Given the description of an element on the screen output the (x, y) to click on. 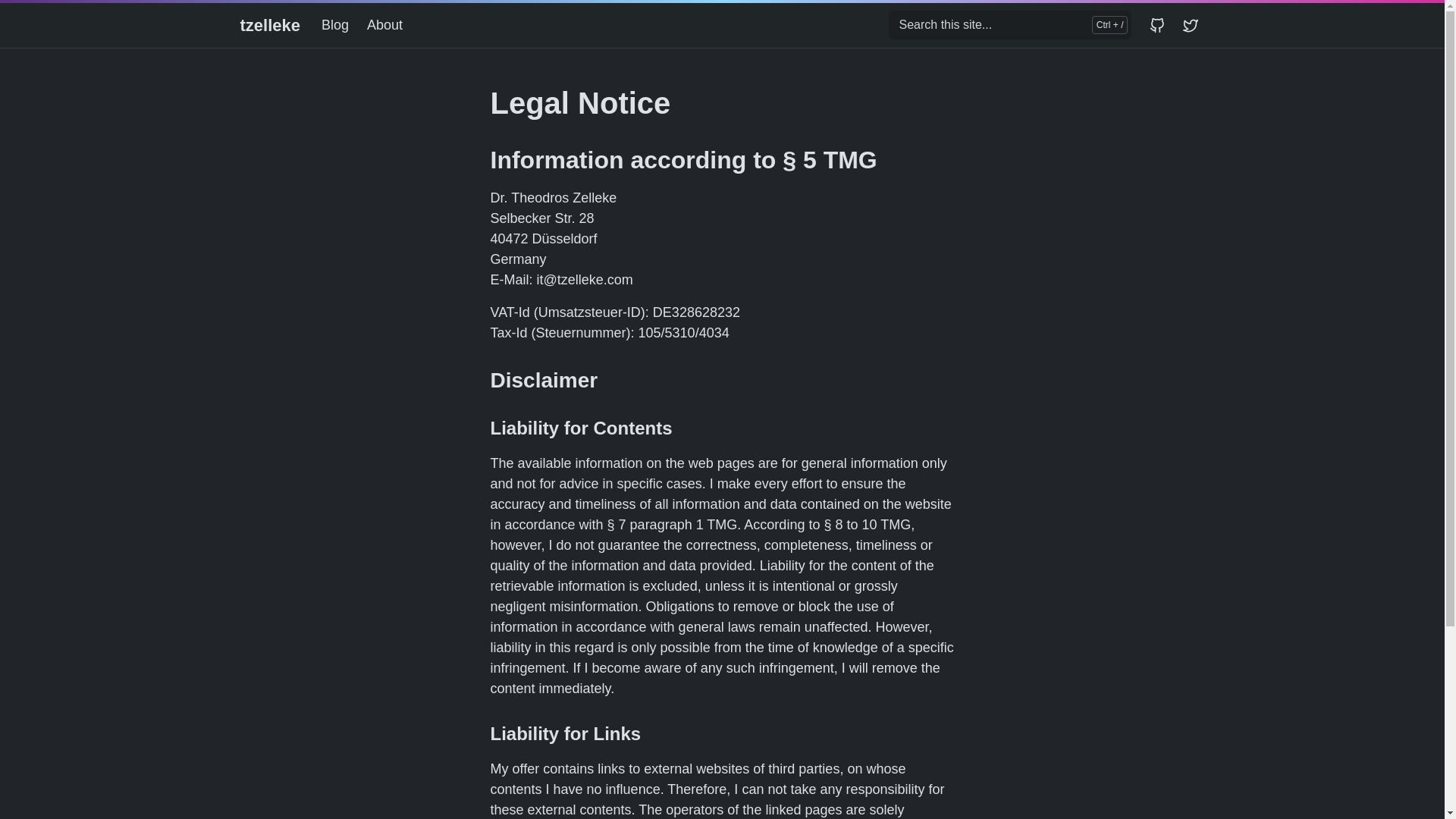
About (390, 25)
tzelleke (269, 25)
Blog (341, 25)
